Given the description of an element on the screen output the (x, y) to click on. 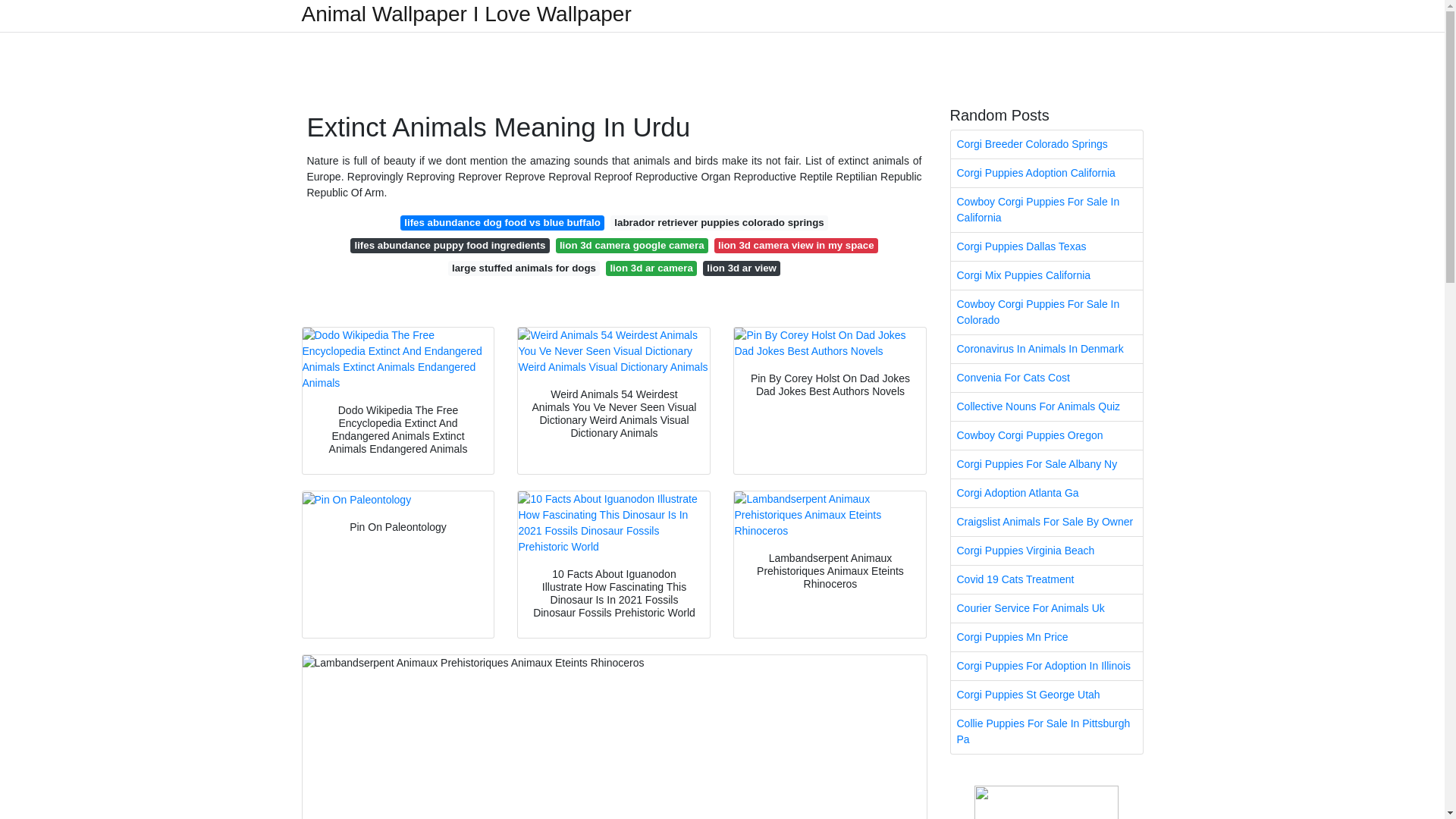
Cowboy Corgi Puppies Oregon (1046, 435)
Cowboy Corgi Puppies For Sale In Colorado (1046, 312)
labrador retriever puppies colorado springs (719, 222)
lion 3d camera view in my space (795, 245)
Corgi Breeder Colorado Springs (1046, 144)
lion 3d camera google camera (631, 245)
Cowboy Corgi Puppies For Sale In California (1046, 209)
Animal Wallpaper I Love Wallpaper (466, 13)
Corgi Mix Puppies California (1046, 275)
Collective Nouns For Animals Quiz (1046, 406)
